Given the description of an element on the screen output the (x, y) to click on. 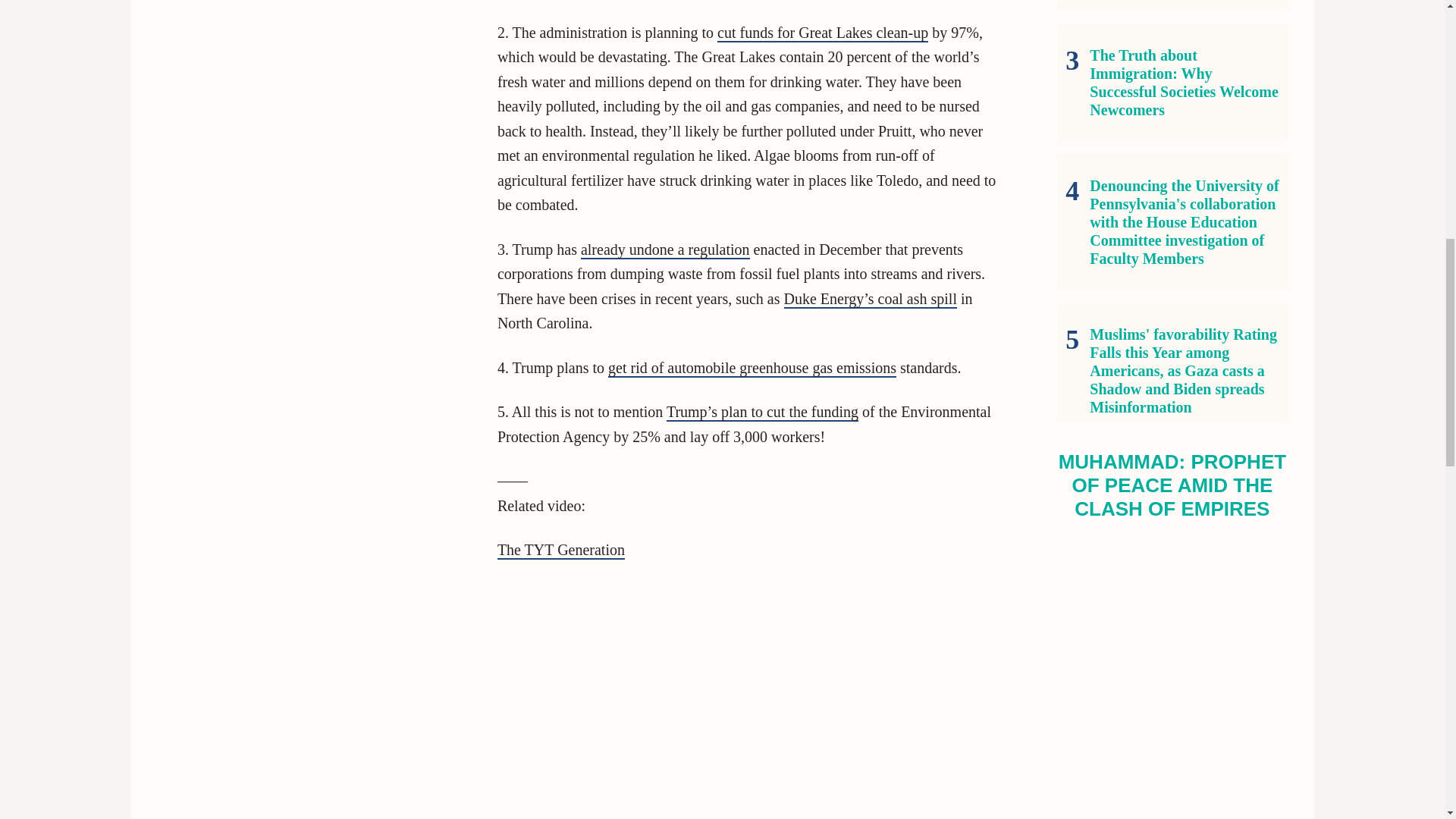
already undone a regulation (664, 249)
get rid of automobile greenhouse gas emissions (752, 368)
The TYT Generation (560, 550)
cut funds for Great Lakes clean-up (822, 33)
